Given the description of an element on the screen output the (x, y) to click on. 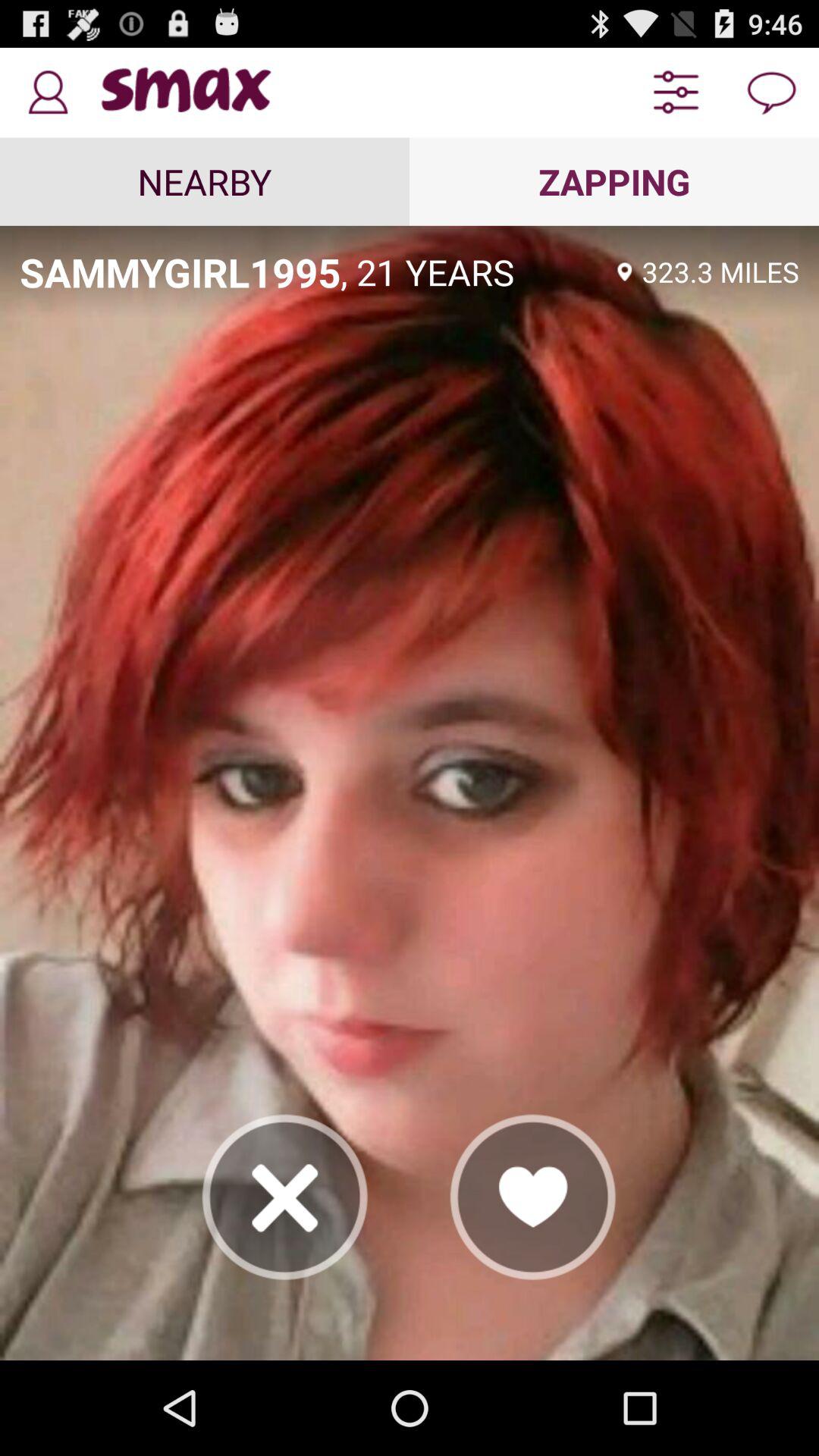
launch icon to the left of the zapping (204, 181)
